Given the description of an element on the screen output the (x, y) to click on. 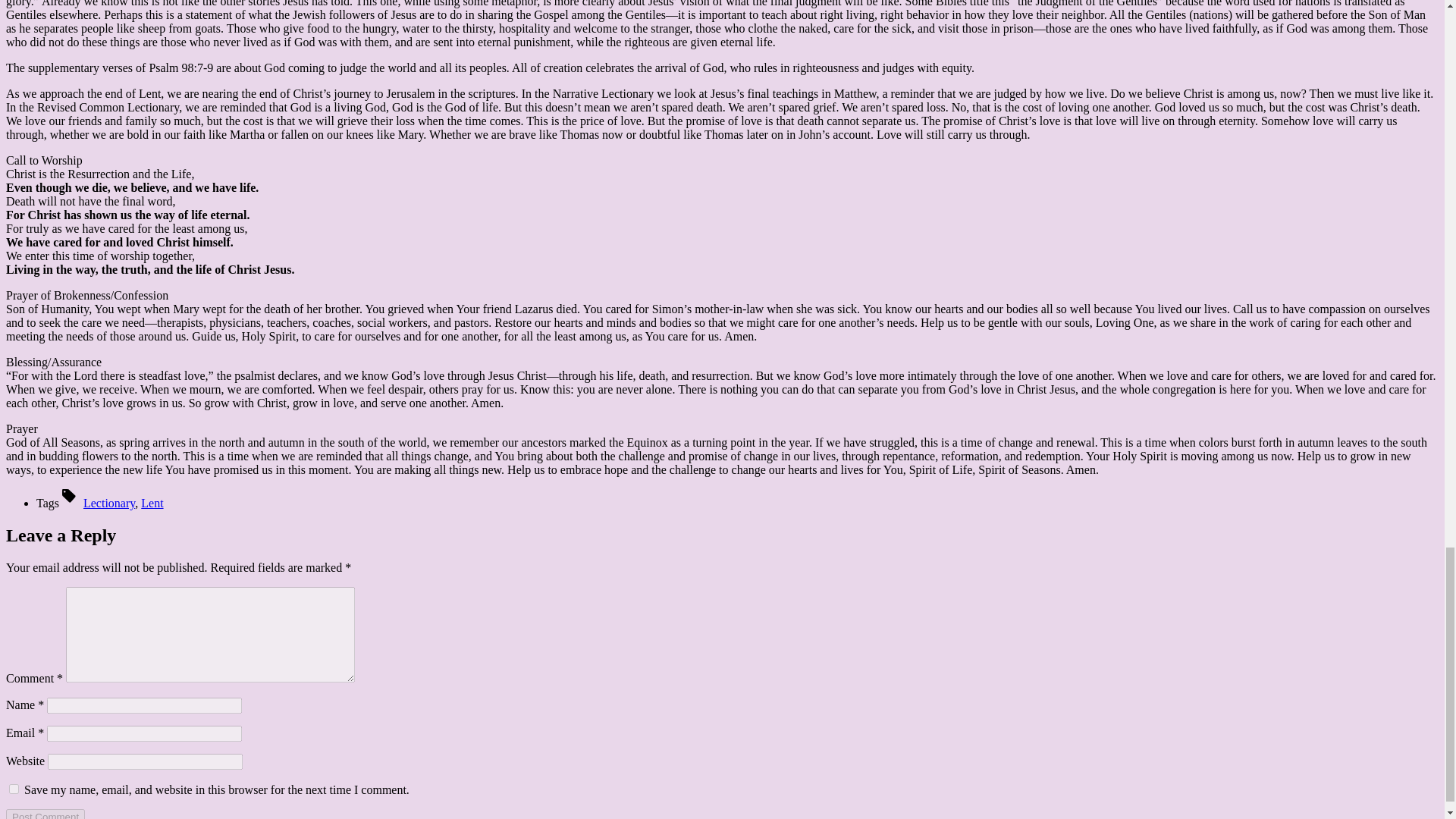
Lectionary (108, 502)
yes (13, 788)
Lent (152, 502)
